Given the description of an element on the screen output the (x, y) to click on. 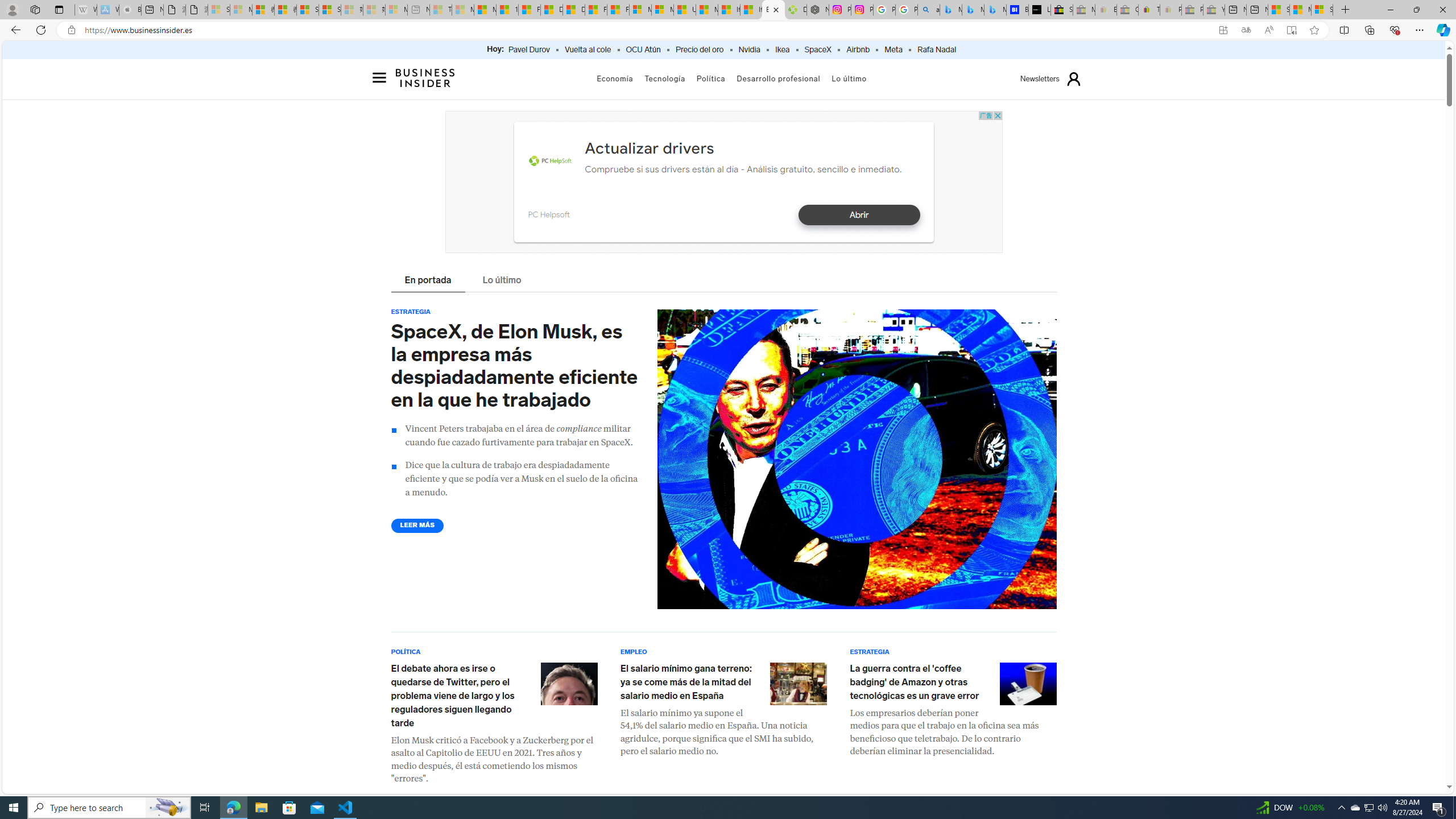
Show translate options (1245, 29)
Marine life - MSN - Sleeping (462, 9)
SpaceX (817, 49)
PC Helpsoft (550, 161)
Logo BusinessInsider.es (425, 80)
Nvidia (748, 49)
